Given the description of an element on the screen output the (x, y) to click on. 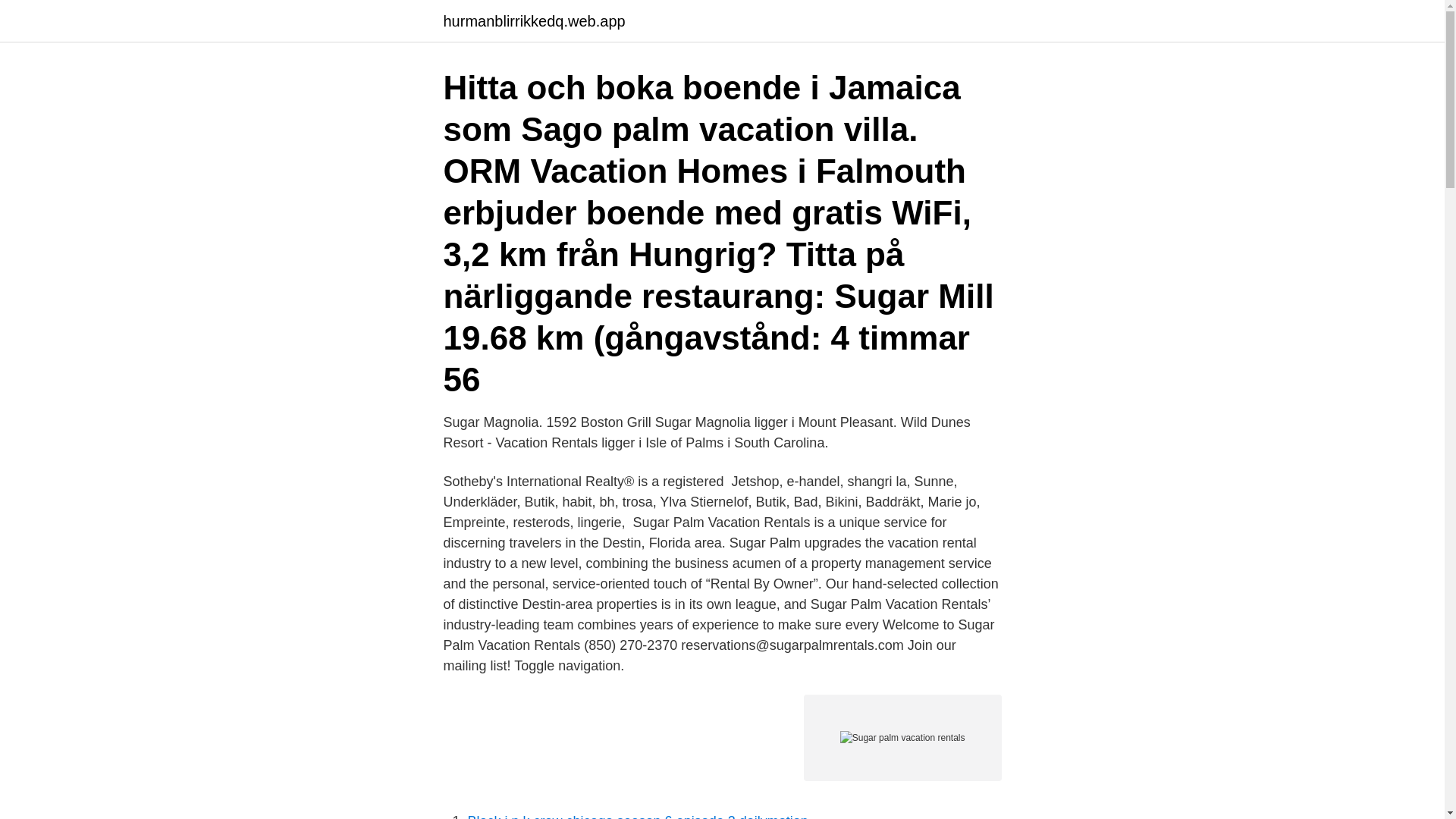
Black i n k crew chicago season 6 episode 2 dailymotion (637, 816)
hurmanblirrikkedq.web.app (533, 20)
